Given the description of an element on the screen output the (x, y) to click on. 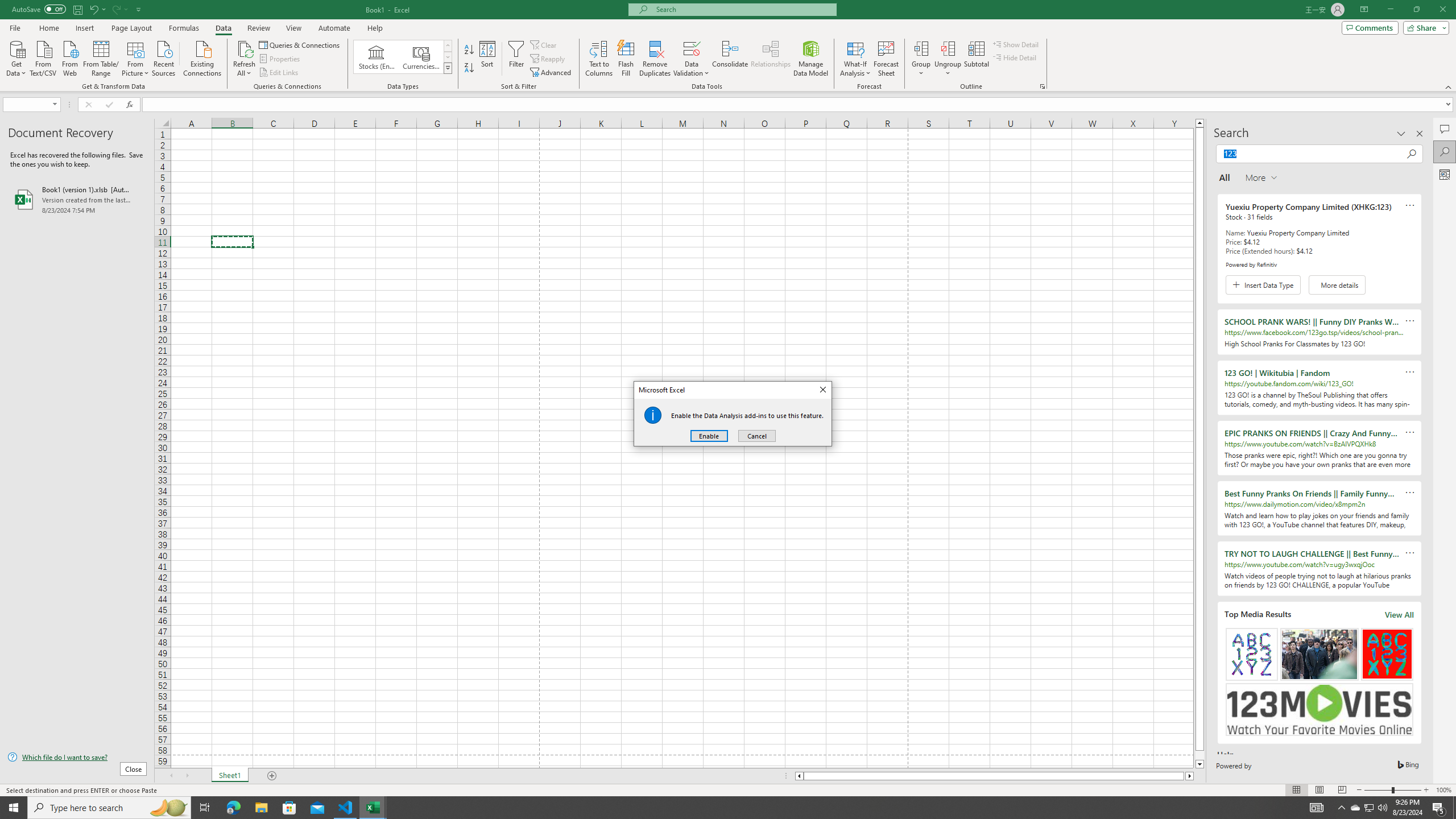
Action Center, 5 new notifications (1439, 807)
